Given the description of an element on the screen output the (x, y) to click on. 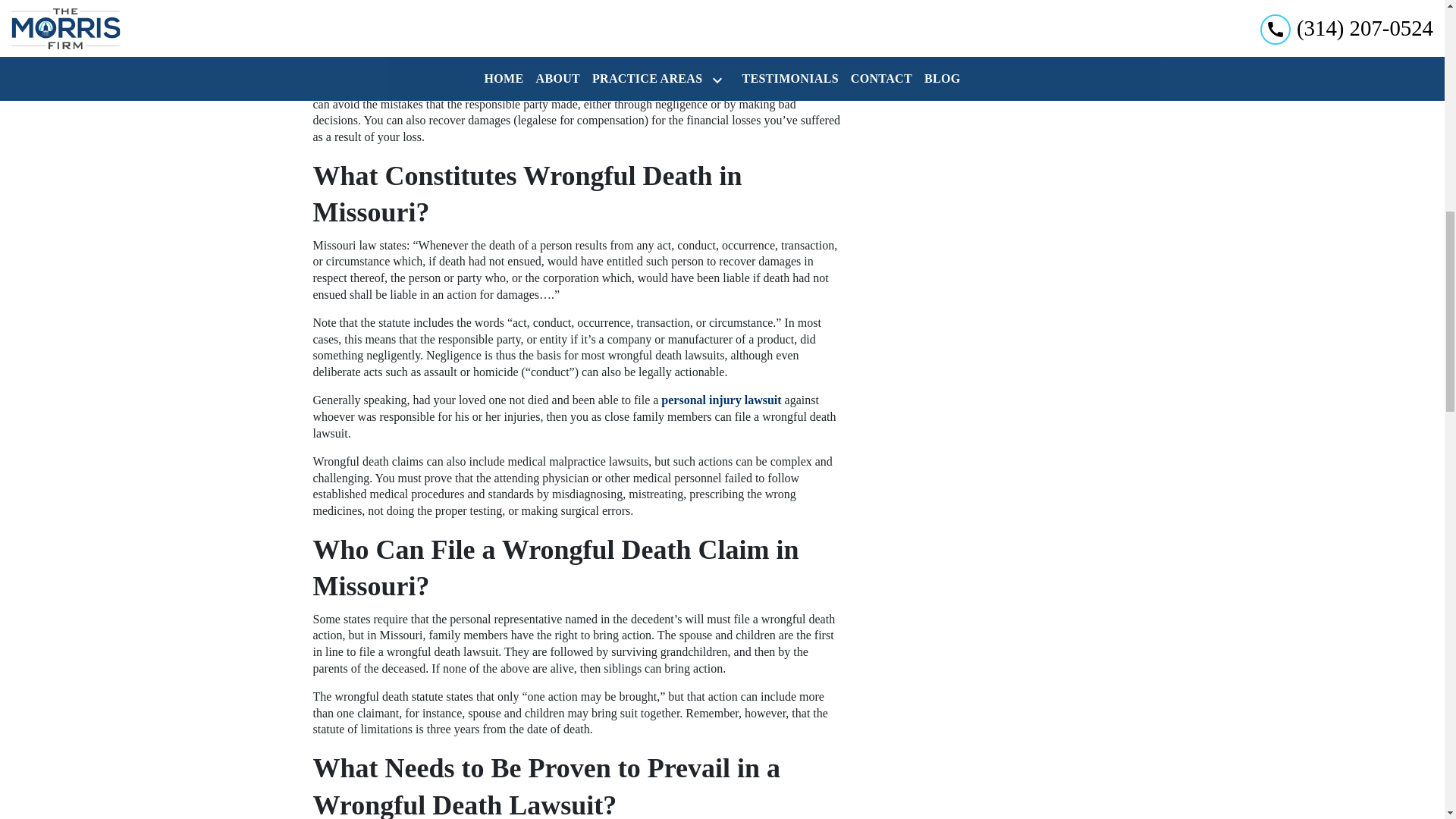
personal injury lawsuit (720, 399)
